Given the description of an element on the screen output the (x, y) to click on. 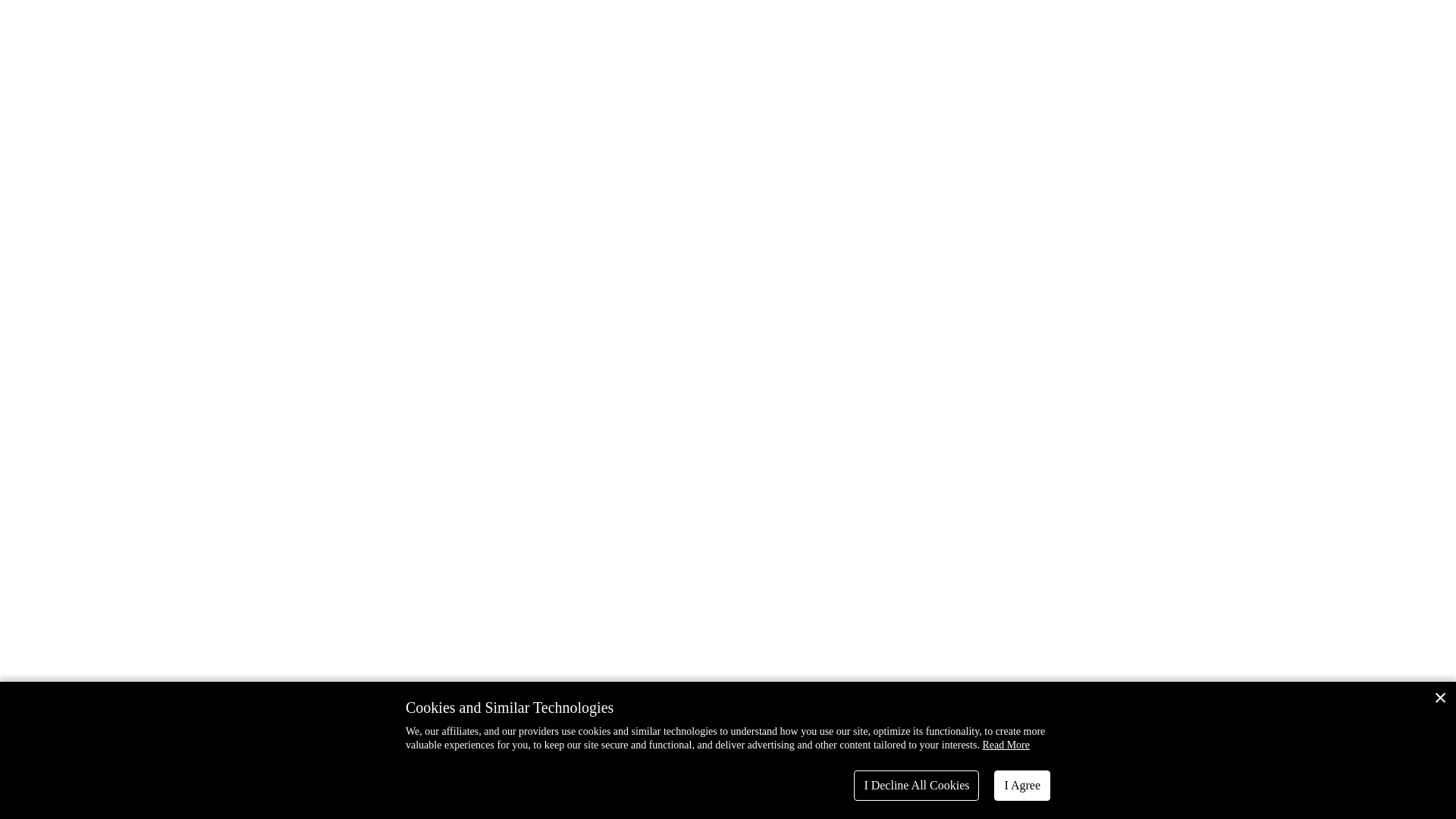
HOMEPAGE (727, 255)
